Given the description of an element on the screen output the (x, y) to click on. 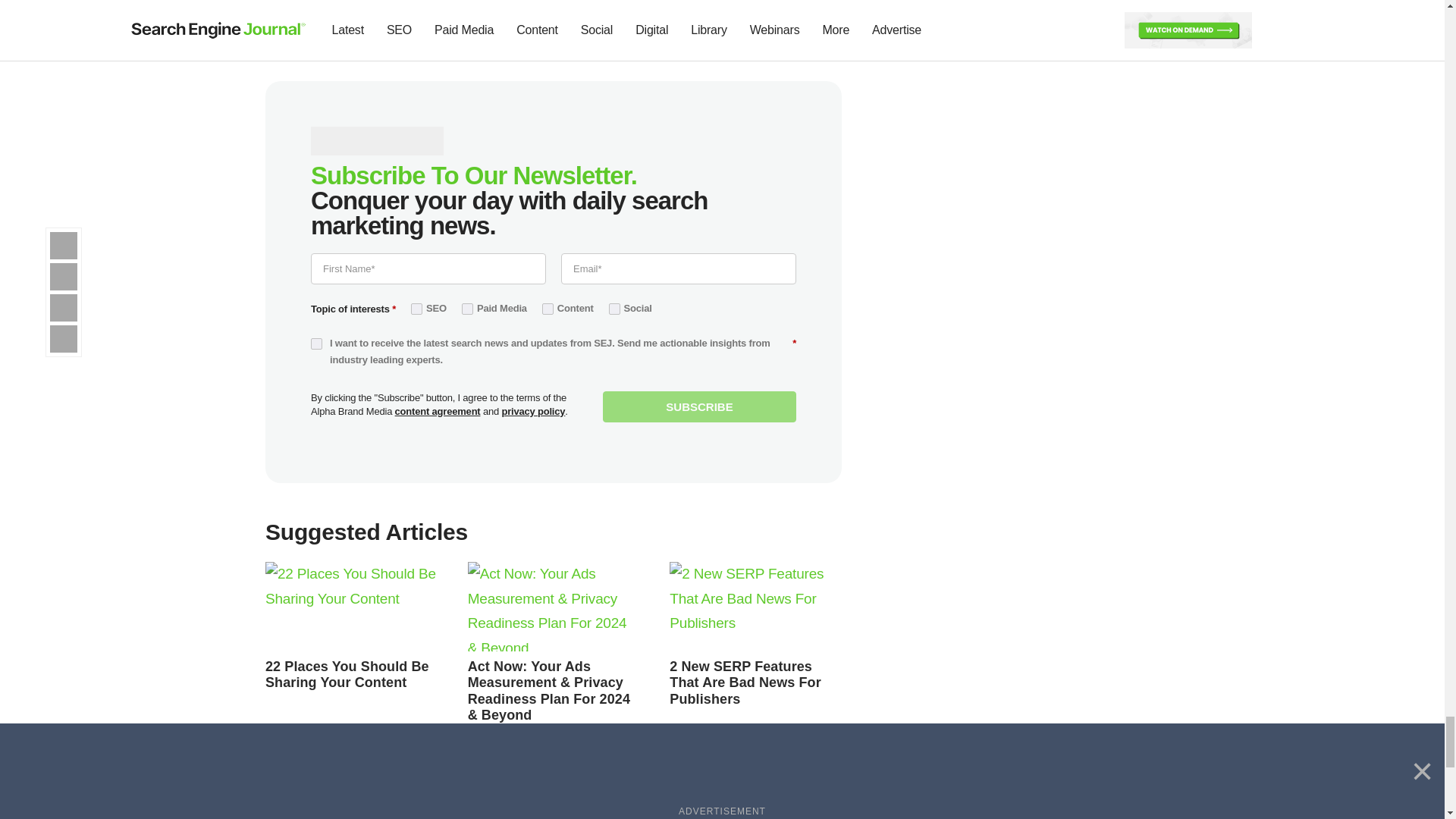
Read the Article (351, 606)
Read the Article (745, 682)
Read the Article (553, 606)
Read the Article (548, 691)
Read the Article (346, 675)
Read the Article (755, 606)
